Given the description of an element on the screen output the (x, y) to click on. 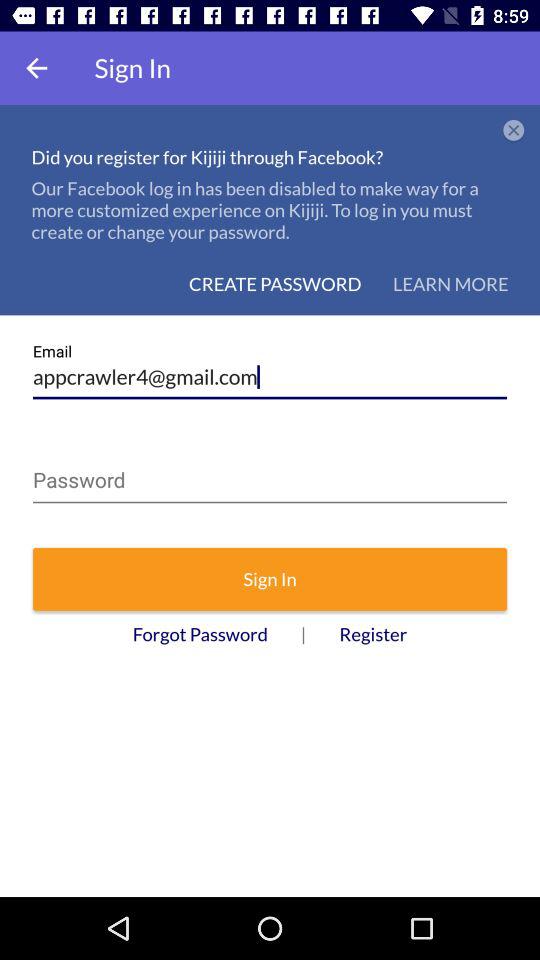
launch the icon below the sign in (199, 633)
